Given the description of an element on the screen output the (x, y) to click on. 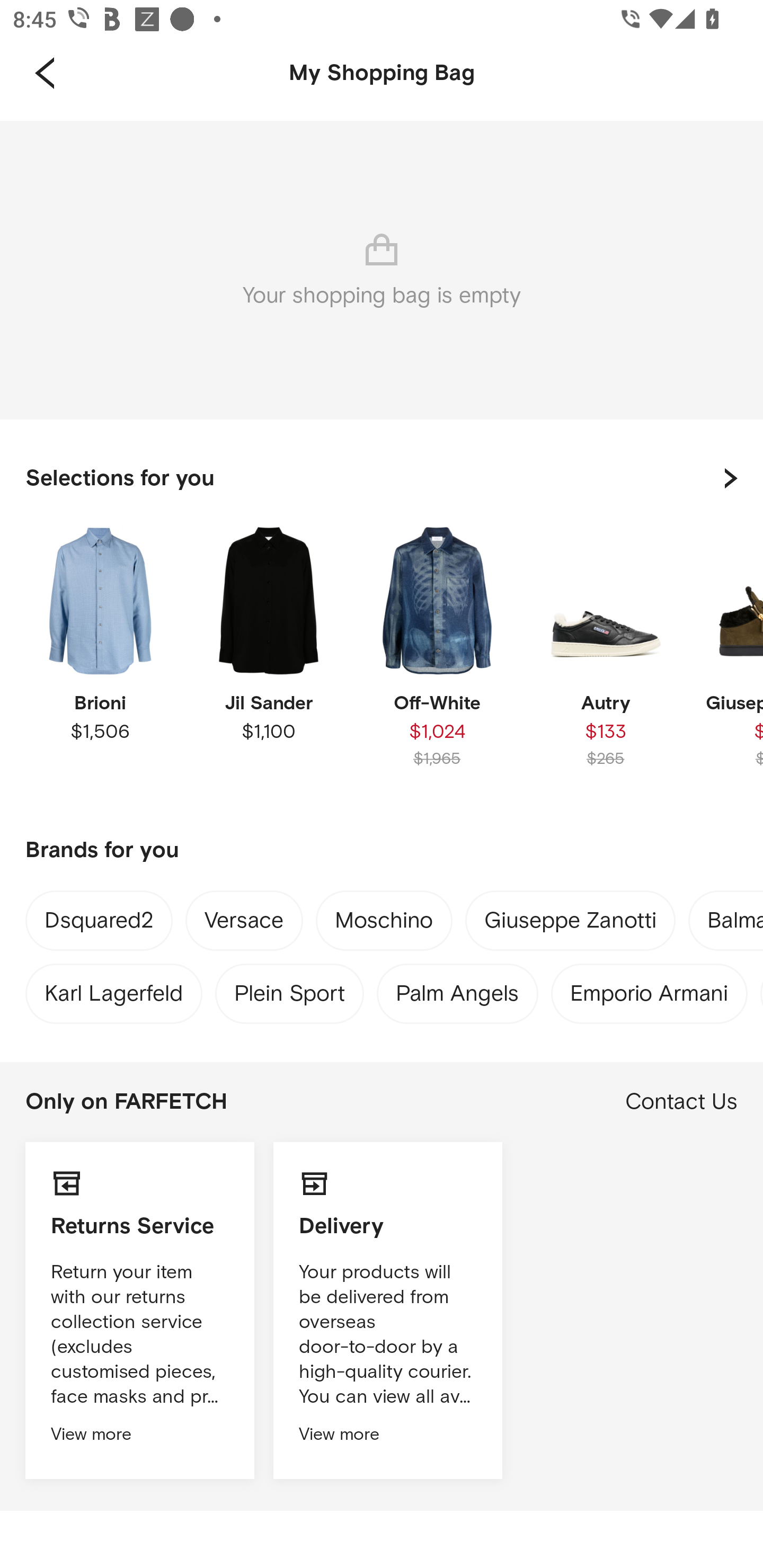
Selections for you (381, 477)
Brioni $1,506 (100, 660)
Jil Sander $1,100 (268, 660)
Off-White $1,024 $1,965 (436, 660)
Autry $133 $265 (605, 660)
Brands for you (381, 850)
Dsquared2 (98, 922)
Versace (243, 924)
Moschino (383, 924)
Giuseppe Zanotti (570, 924)
Balmain (735, 924)
Karl Lagerfeld (113, 988)
Plein Sport (289, 988)
Palm Angels (457, 988)
Emporio Armani (648, 988)
Contact Us (680, 1101)
